Given the description of an element on the screen output the (x, y) to click on. 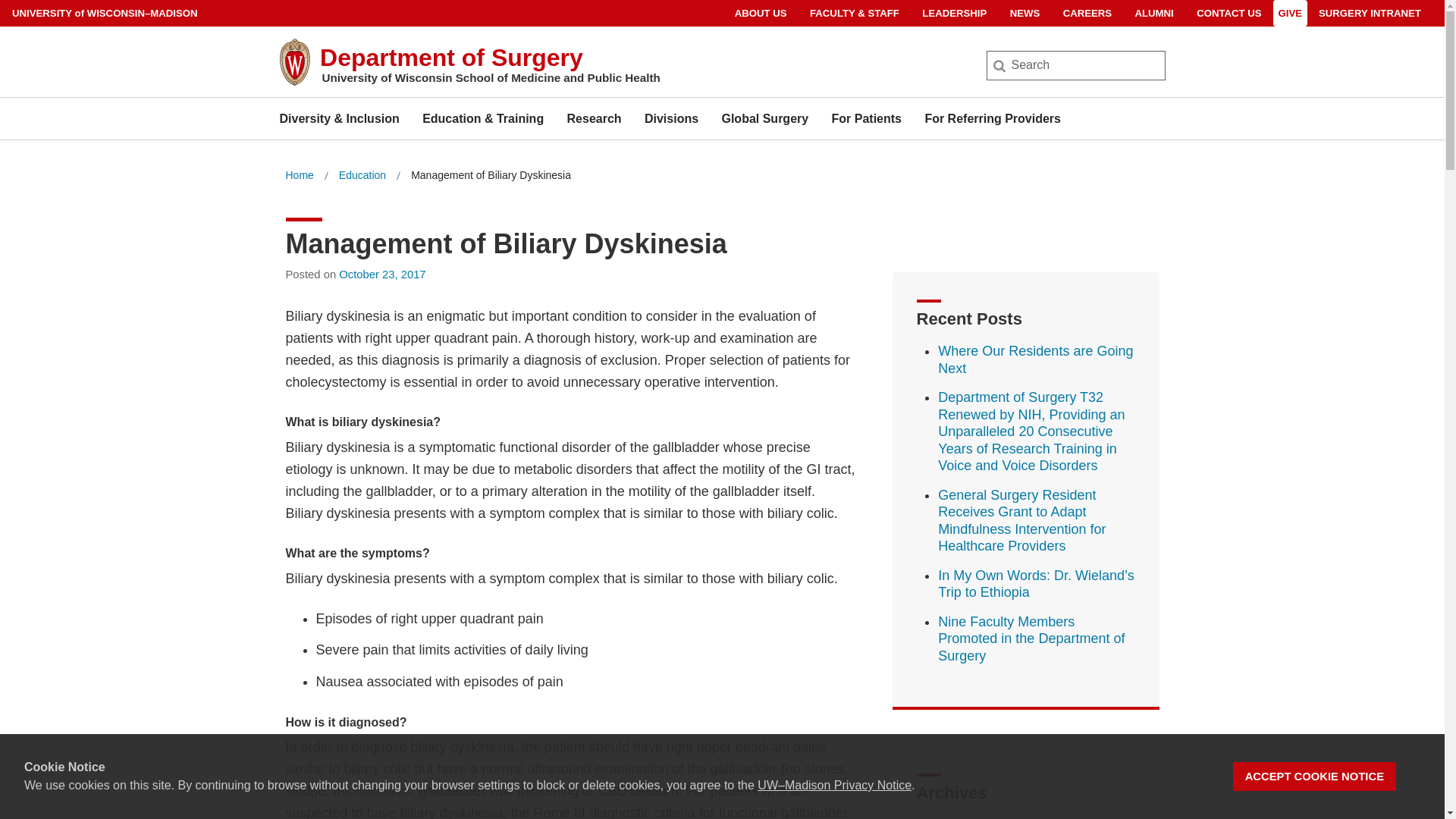
SURGERY INTRANET (1370, 13)
Divisions (671, 118)
Home (299, 175)
October 23, 2017 (382, 274)
NEWS (1025, 13)
ACCEPT COOKIE NOTICE (1314, 776)
LEADERSHIP (954, 13)
GIVE (1290, 13)
Management of Biliary Dyskinesia (490, 175)
Global Surgery (764, 118)
ABOUT US (761, 13)
CONTACT US (1228, 13)
Department of Surgery (451, 57)
Search (37, 16)
For Patients (866, 118)
